Given the description of an element on the screen output the (x, y) to click on. 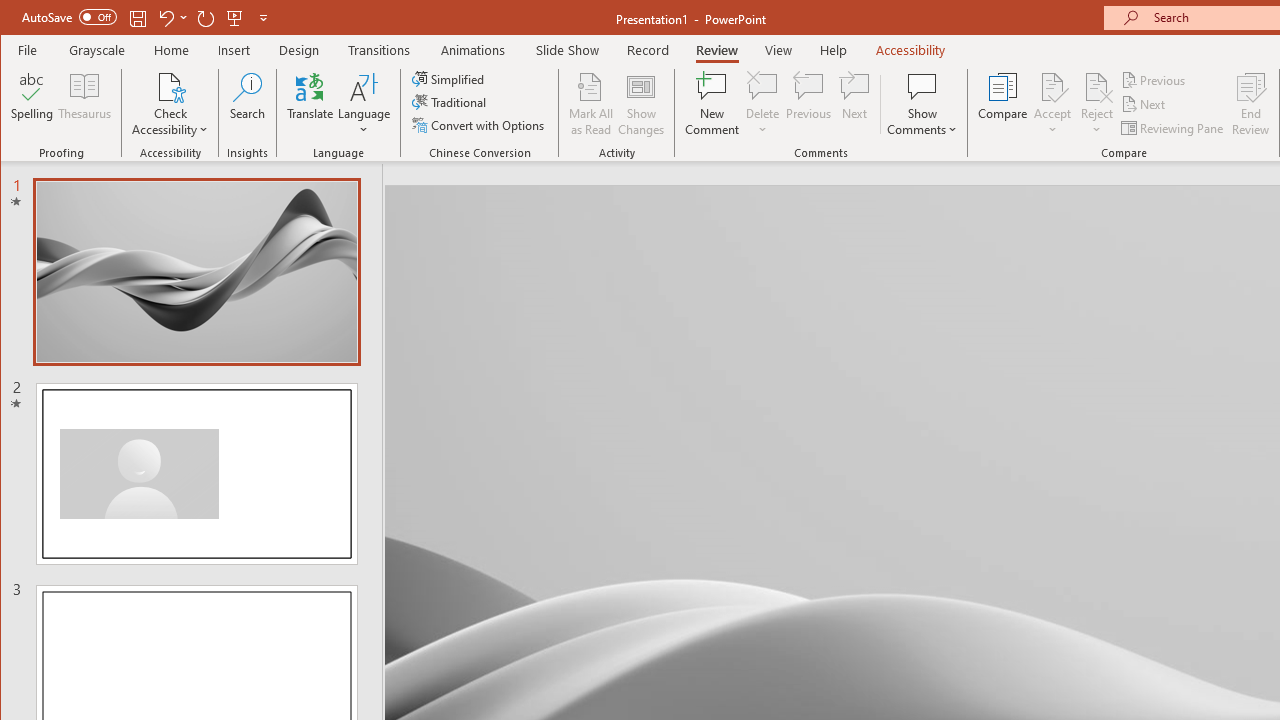
Convert with Options... (479, 124)
Show Changes (640, 104)
